Given the description of an element on the screen output the (x, y) to click on. 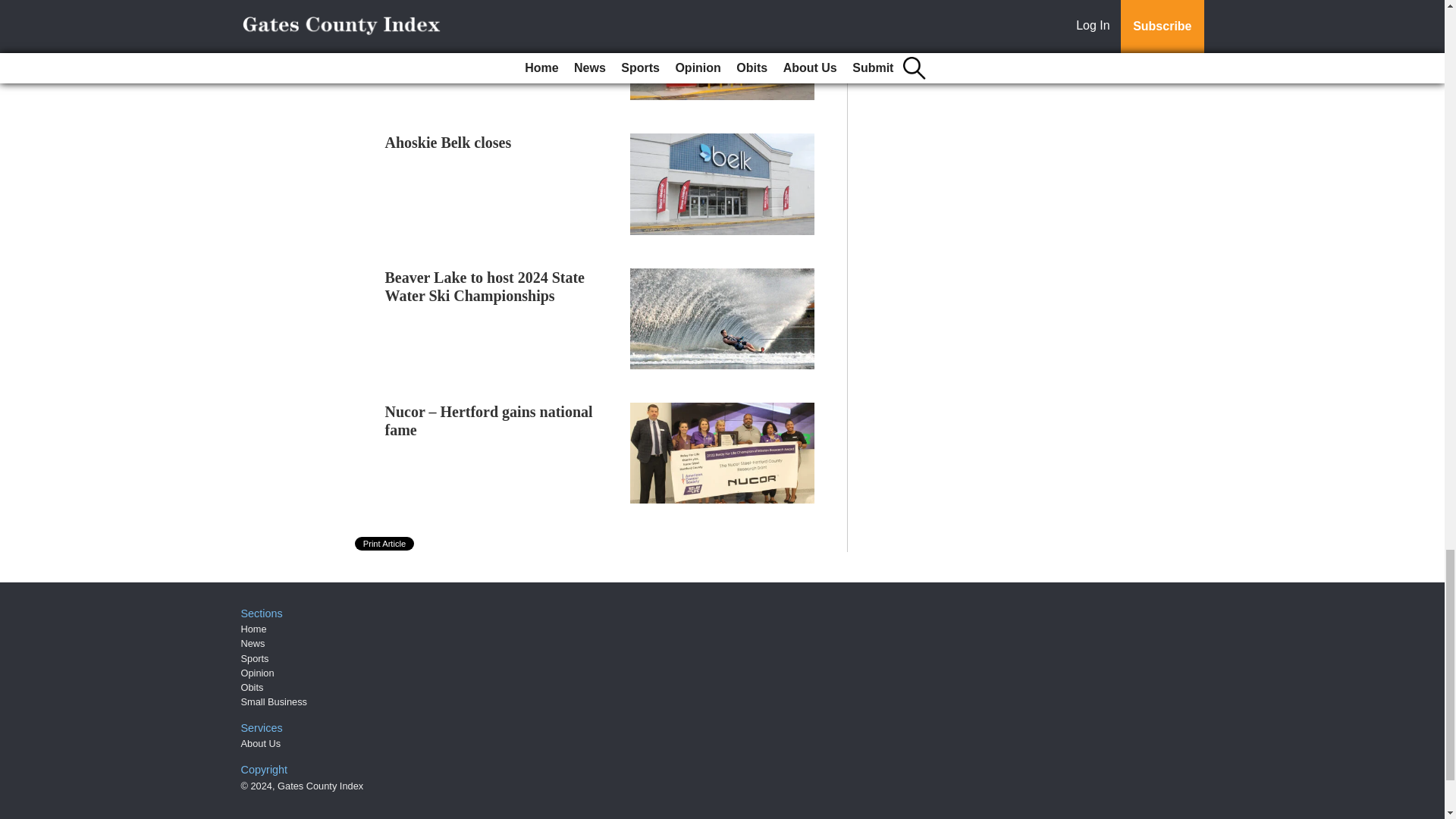
Ahoskie Belk closes (448, 142)
Obits (252, 686)
About Us (261, 743)
Home (253, 628)
Opinion (258, 672)
Beaver Lake to host 2024 State Water Ski Championships (485, 286)
Small Business (274, 701)
Print Article (384, 543)
Ahoskie Belk closes (448, 142)
Beaver Lake to host 2024 State Water Ski Championships (485, 286)
Harbor Freight Tools opens Ahoskie location (474, 17)
Sports (255, 658)
Harbor Freight Tools opens Ahoskie location (474, 17)
News (252, 643)
